Given the description of an element on the screen output the (x, y) to click on. 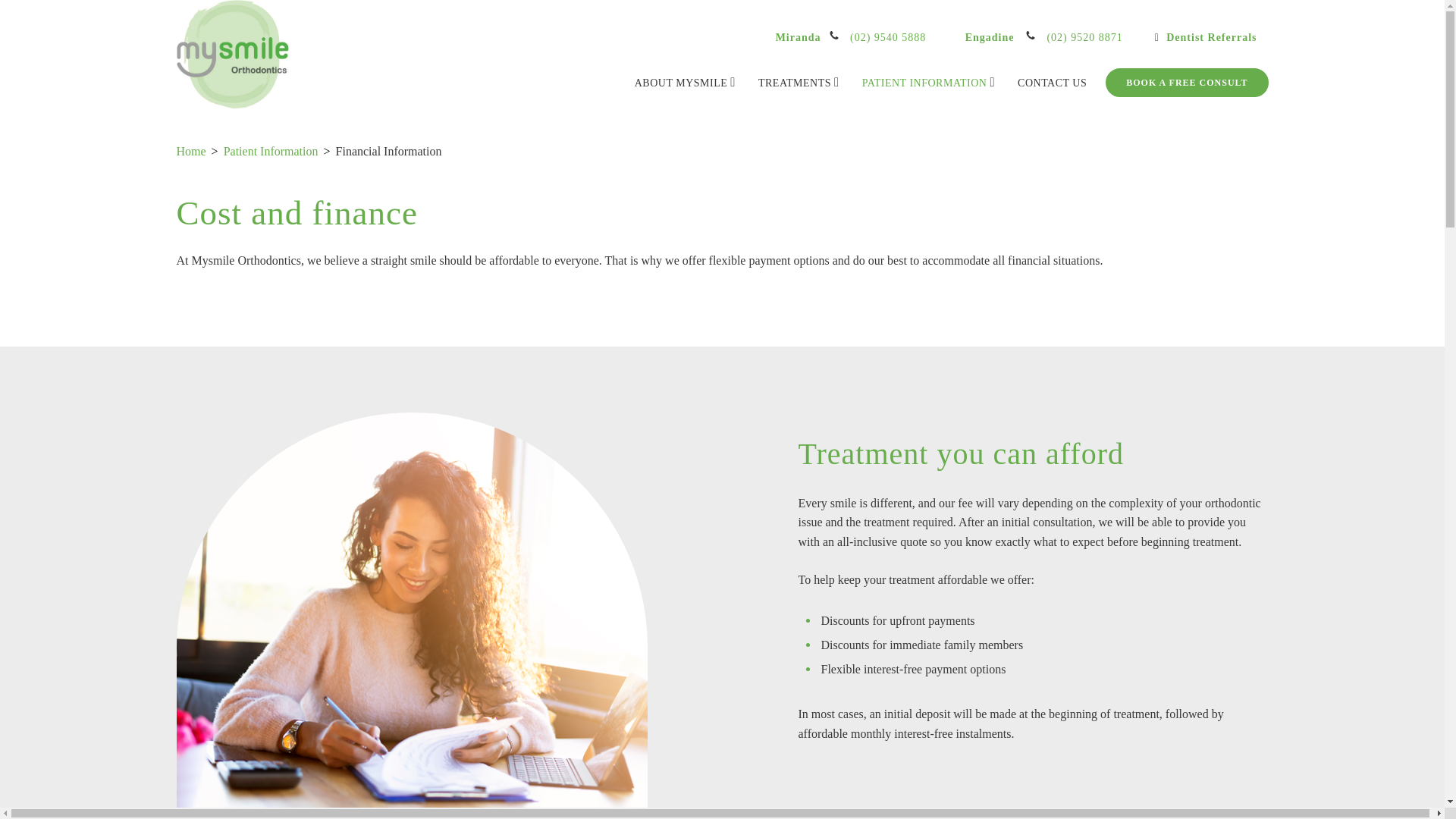
PATIENT INFORMATION (928, 82)
Home (190, 151)
CONTACT US (1052, 82)
ABOUT MYSMILE (684, 82)
Dentist Referrals (1205, 37)
Dentist Referrals (1205, 37)
MySmile Orthodontics (232, 54)
TREATMENTS (799, 82)
BOOK A FREE CONSULT (1186, 82)
